Given the description of an element on the screen output the (x, y) to click on. 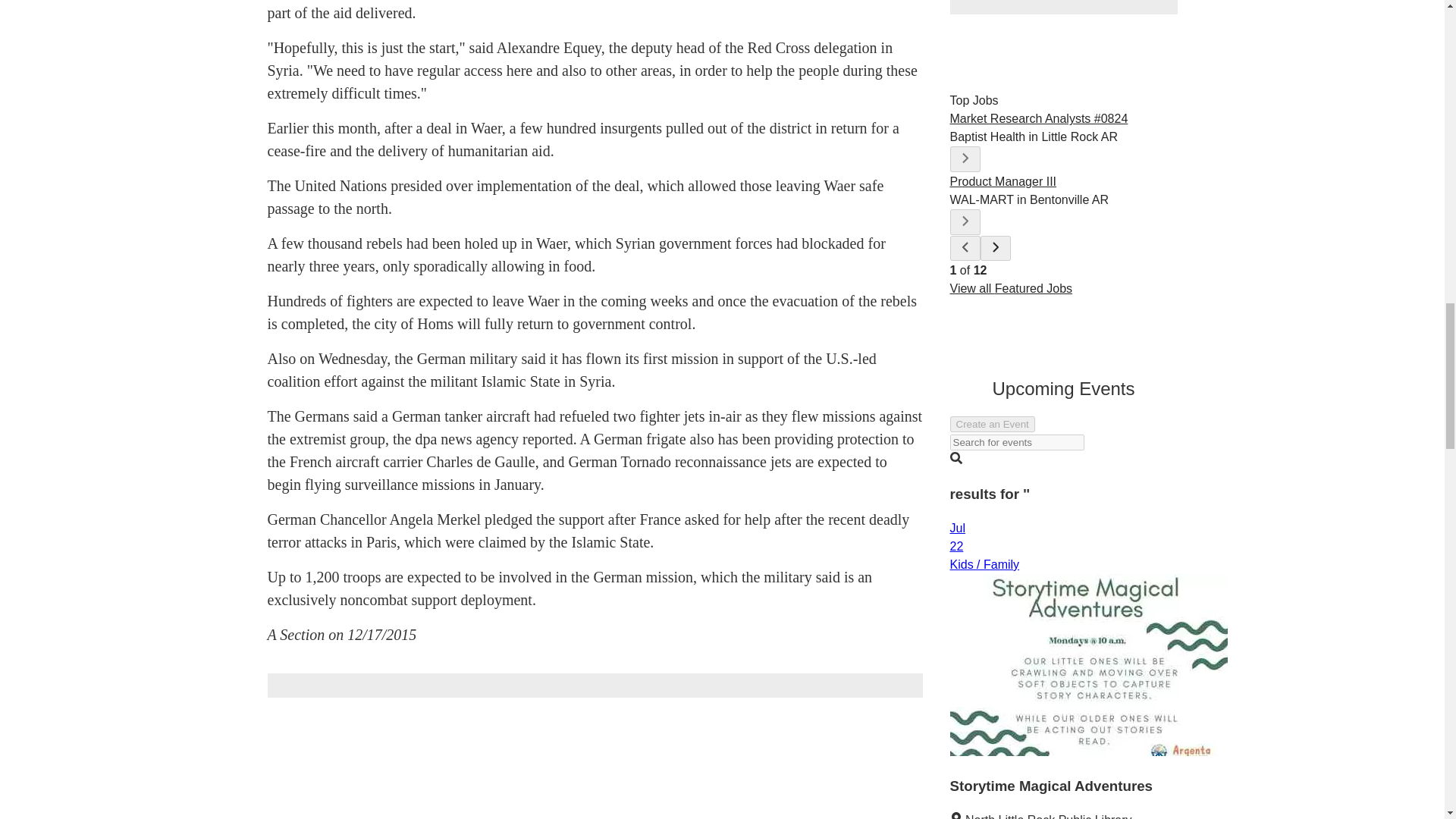
3rd party ad content (1062, 7)
